Given the description of an element on the screen output the (x, y) to click on. 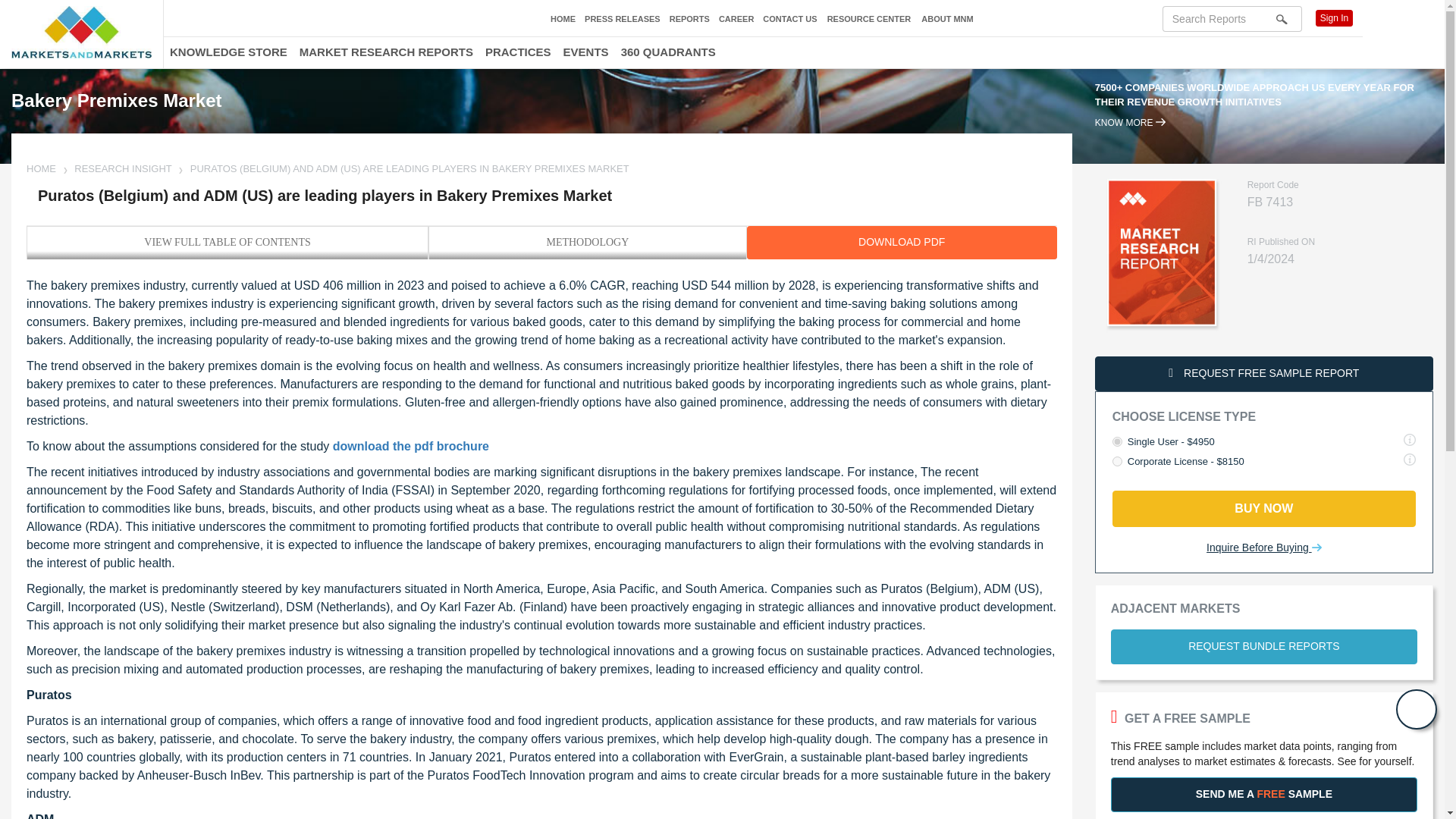
REQUEST BUNDLE REPORTS (1263, 646)
BUY NOW (1263, 508)
CAREER (736, 18)
HOME (42, 168)
REPORTS (689, 18)
download the pdf brochure (411, 445)
on (1117, 461)
METHODOLOGY (587, 242)
RESEARCH INSIGHT (122, 168)
